Given the description of an element on the screen output the (x, y) to click on. 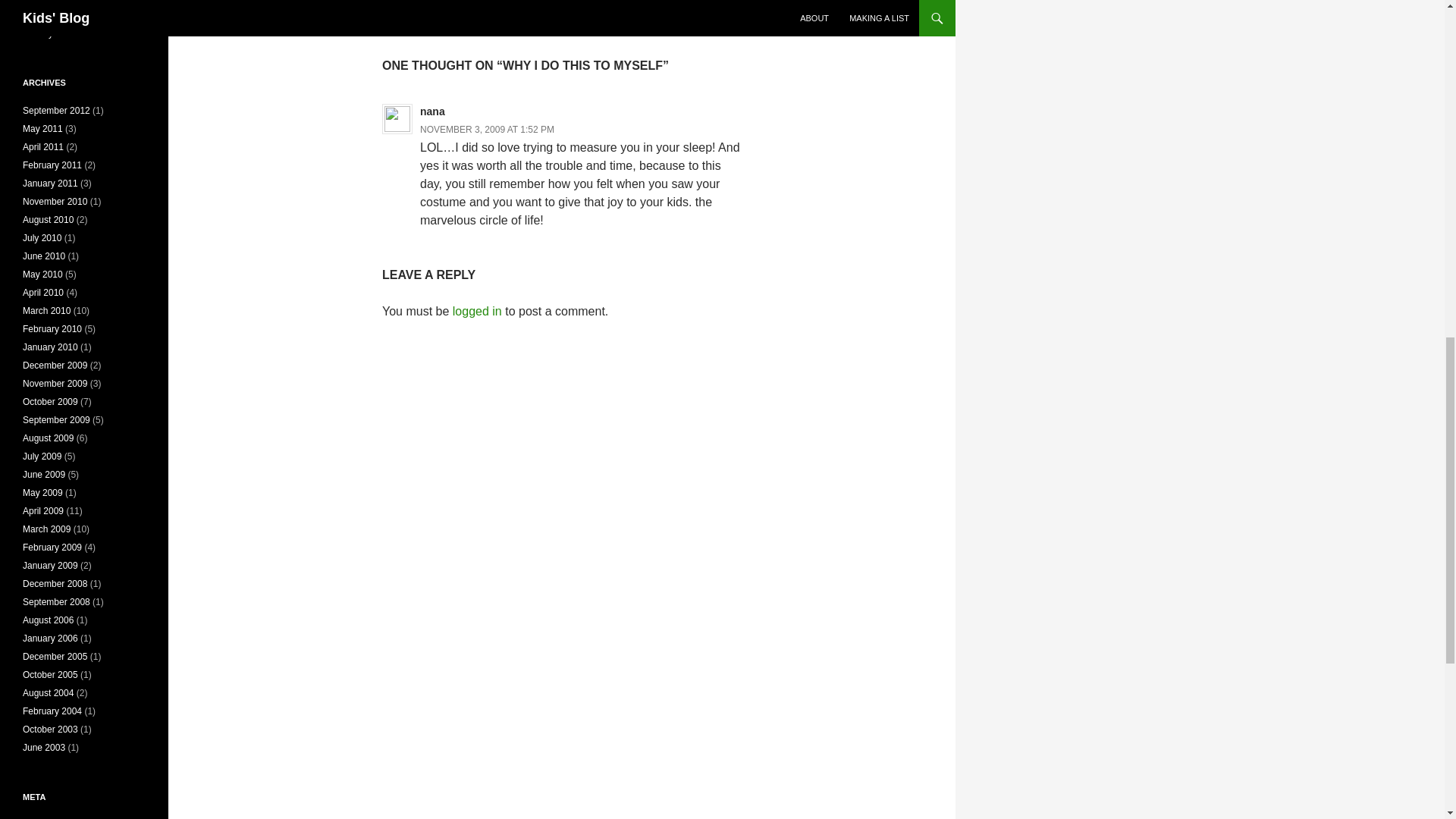
NOVEMBER 3, 2009 AT 1:52 PM (487, 129)
logged in (561, 10)
